Given the description of an element on the screen output the (x, y) to click on. 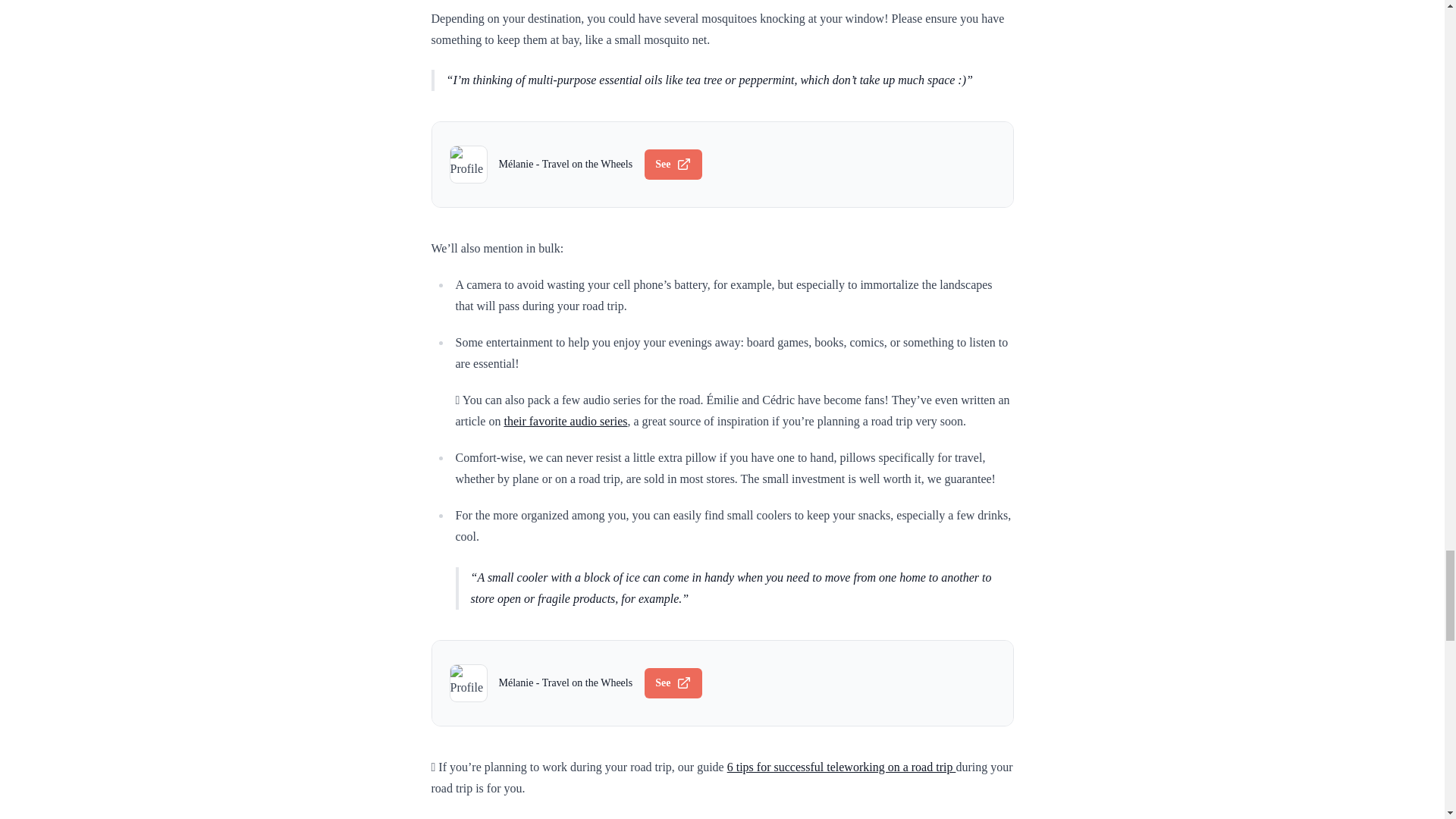
their favorite audio series (565, 420)
See (673, 164)
6 tips for successful teleworking on a road trip (841, 766)
See (673, 683)
